Given the description of an element on the screen output the (x, y) to click on. 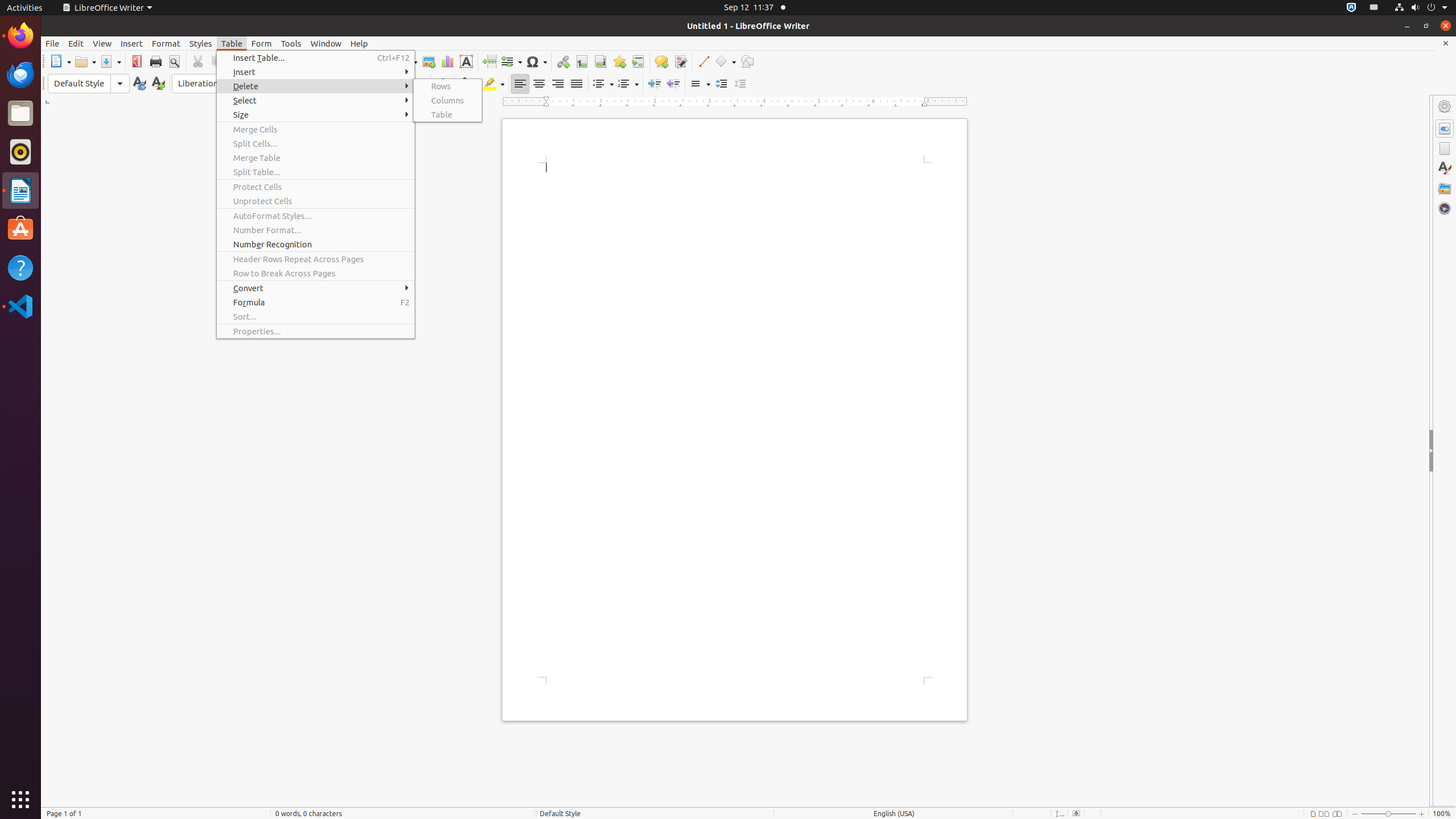
AutoFormat Styles... Element type: menu-item (315, 215)
Edit Element type: menu (75, 43)
:1.72/StatusNotifierItem Element type: menu (1350, 7)
Show Applications Element type: toggle-button (20, 799)
Files Element type: push-button (20, 113)
